Given the description of an element on the screen output the (x, y) to click on. 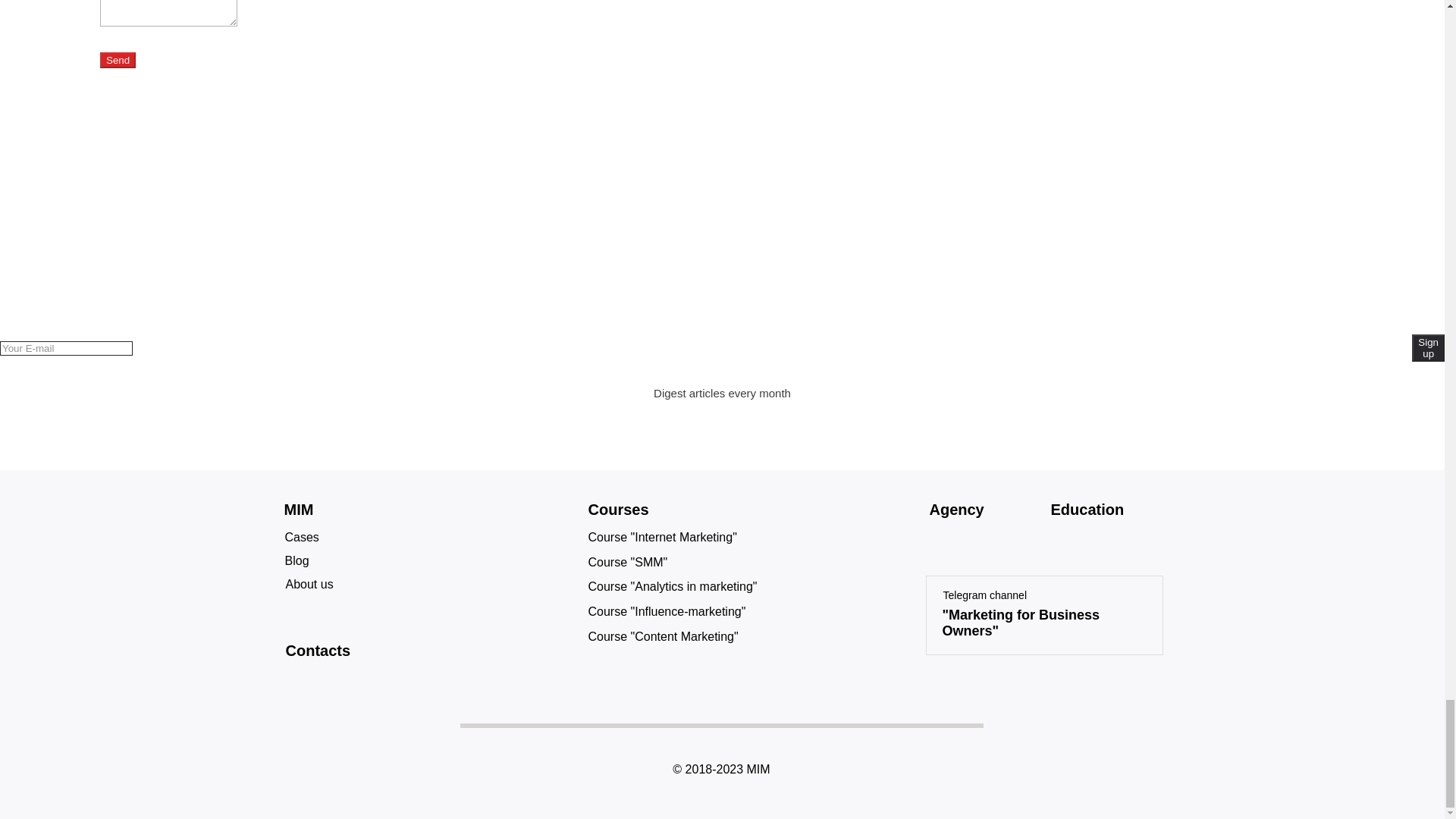
Send (117, 59)
